Given the description of an element on the screen output the (x, y) to click on. 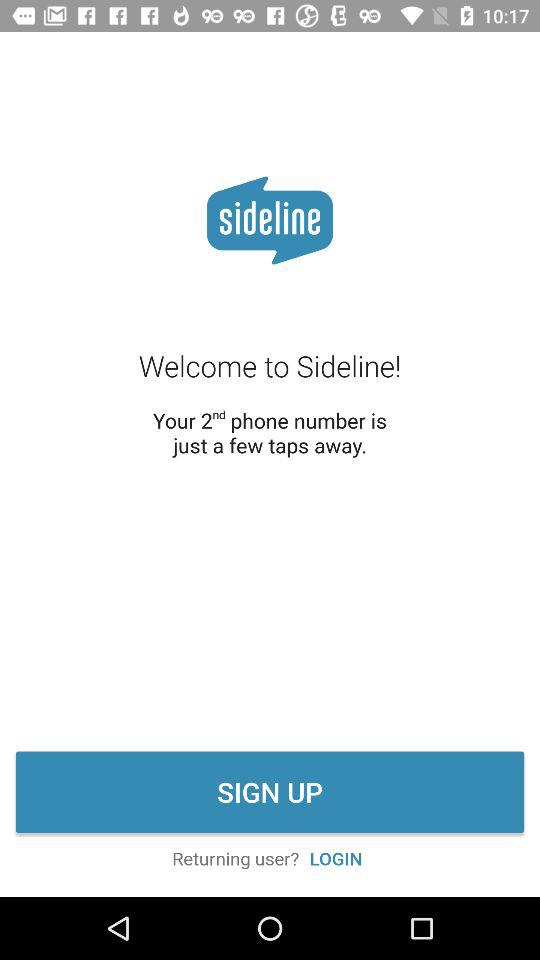
press icon below the your 2nd phone icon (269, 791)
